Given the description of an element on the screen output the (x, y) to click on. 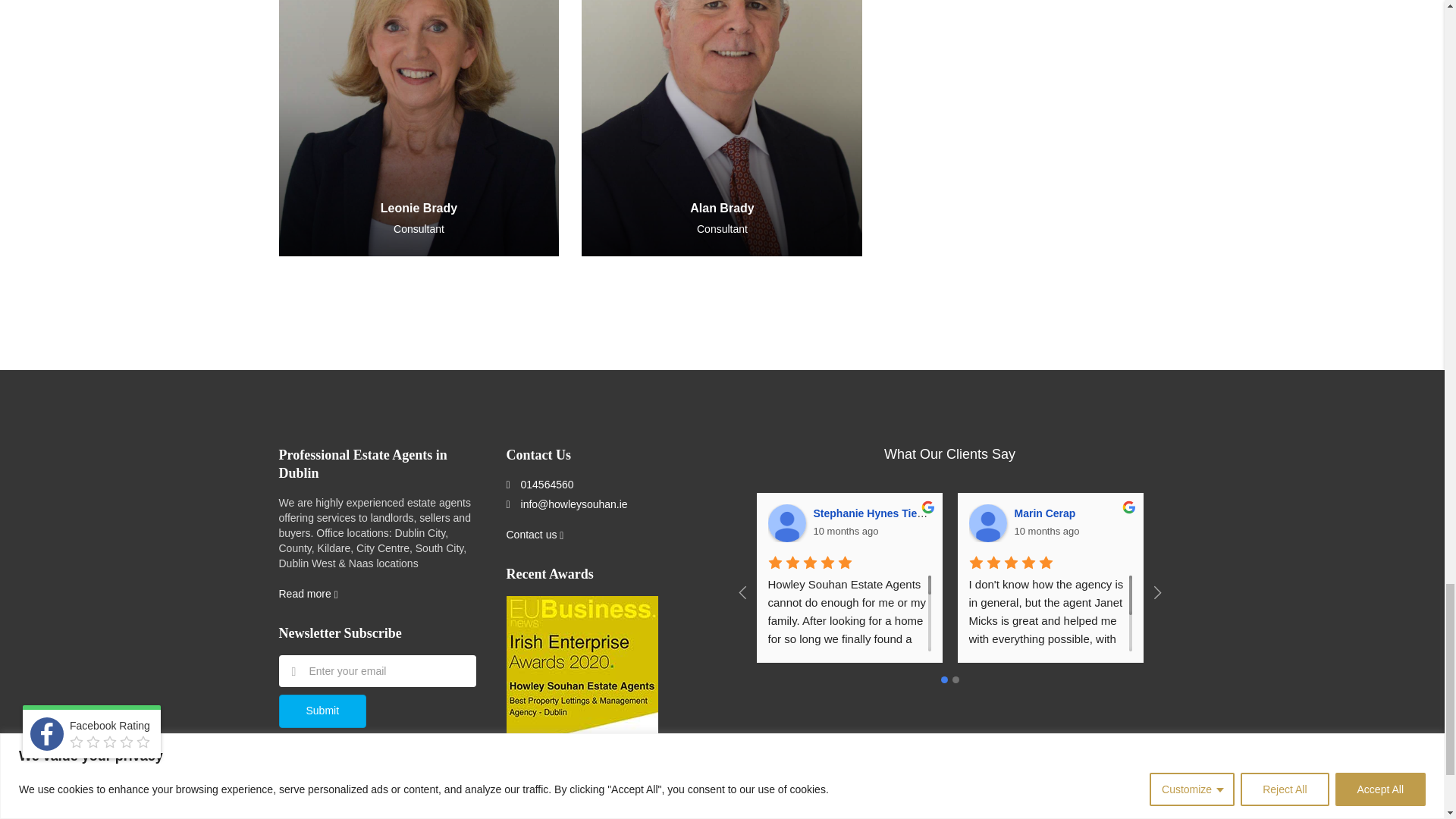
Pat Conroy (1390, 523)
Rachel Shadwell-Gibney (1188, 523)
Marin Cerap (988, 523)
Stephanie Hynes Tiernan (786, 523)
